Given the description of an element on the screen output the (x, y) to click on. 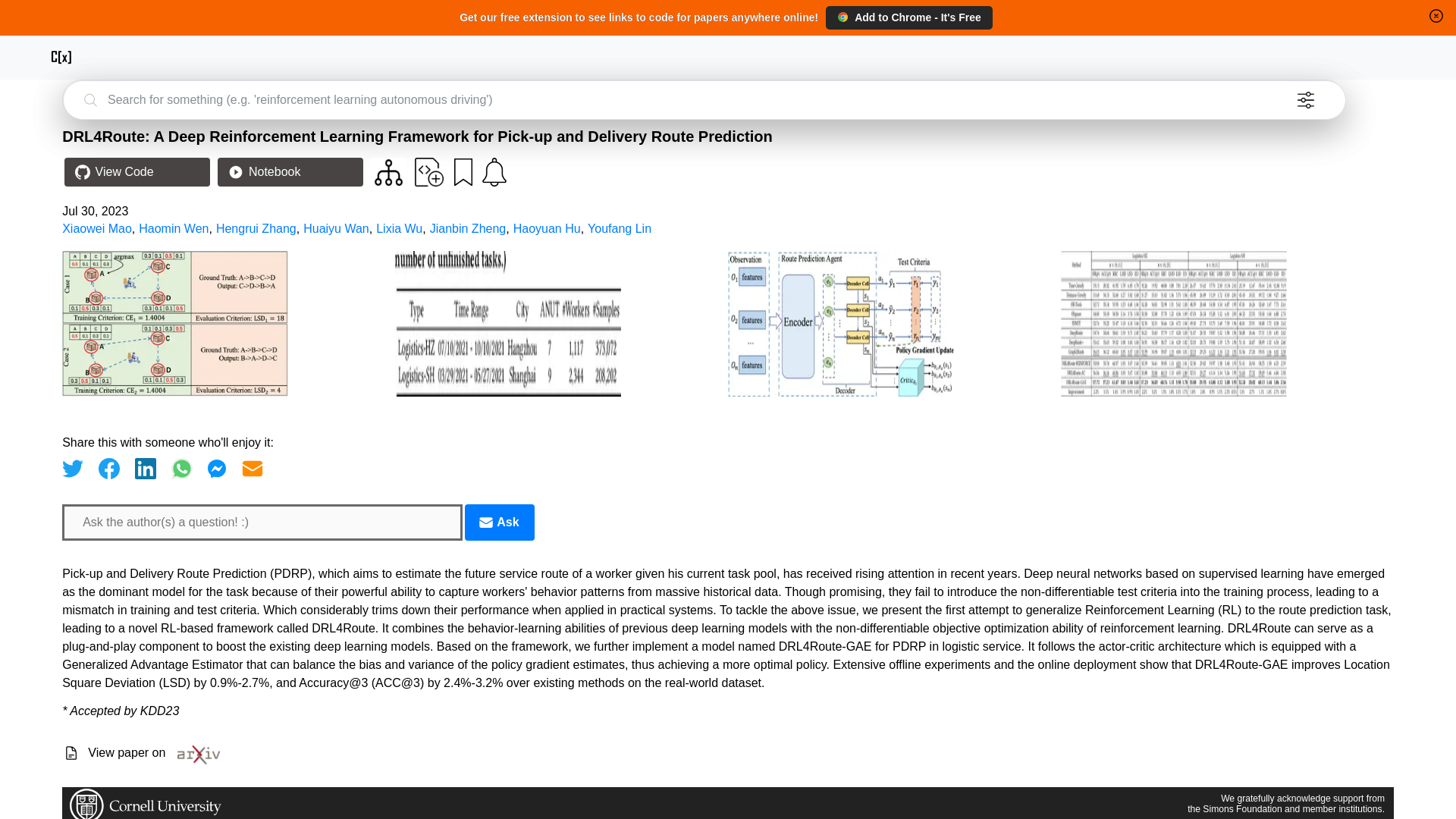
Email Icon (486, 522)
Ask any Qs from the author (499, 522)
Lixia Wu (398, 228)
Huaiyu Wan (335, 228)
Haomin Wen (173, 228)
Email Icon Ask (499, 522)
View Code (136, 172)
Add to Chrome - It's Free (908, 17)
Hengrui Zhang (256, 228)
Notebook (289, 172)
